Given the description of an element on the screen output the (x, y) to click on. 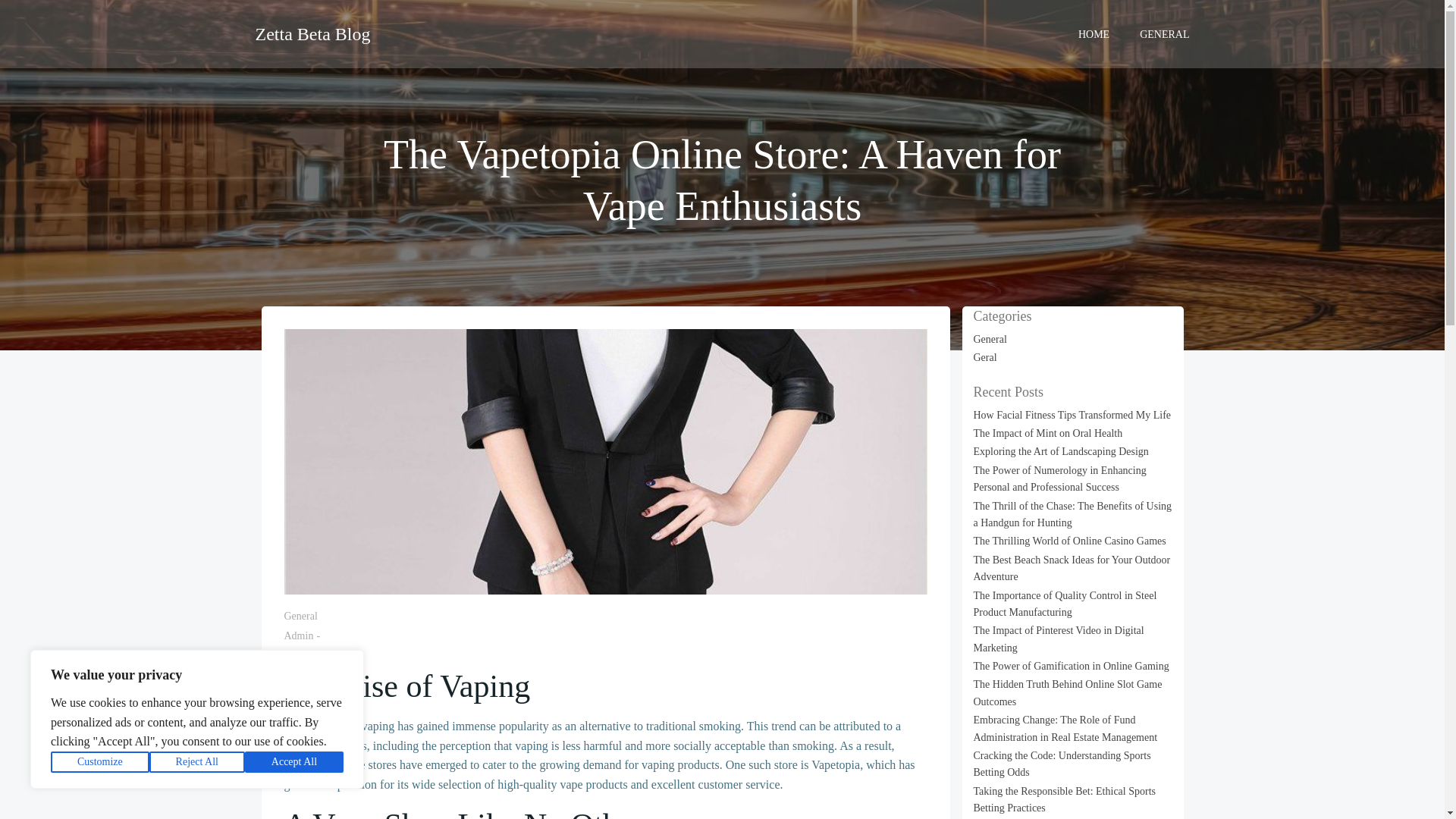
General (300, 616)
HOME (1093, 33)
Exploring the Art of Landscaping Design (1061, 451)
The Impact of Mint on Oral Health (1048, 432)
General (990, 338)
Customize (99, 762)
GENERAL (1164, 33)
The Thrilling World of Online Casino Games (1070, 541)
Zetta Beta Blog (311, 33)
Admin (298, 635)
Reject All (196, 762)
The Best Beach Snack Ideas for Your Outdoor Adventure (1072, 568)
Accept All (293, 762)
